Given the description of an element on the screen output the (x, y) to click on. 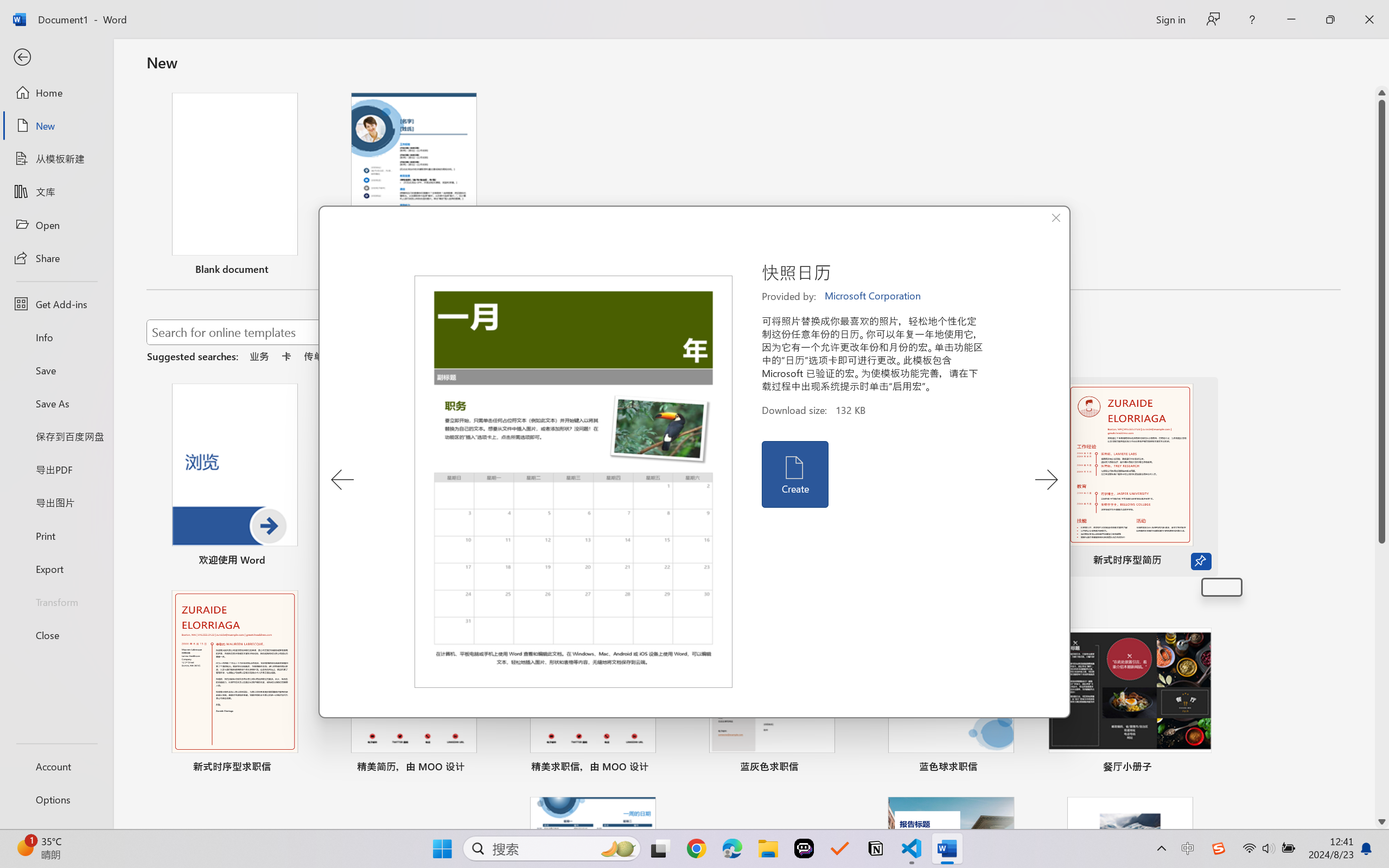
Options (56, 798)
Get Add-ins (56, 303)
